Given the description of an element on the screen output the (x, y) to click on. 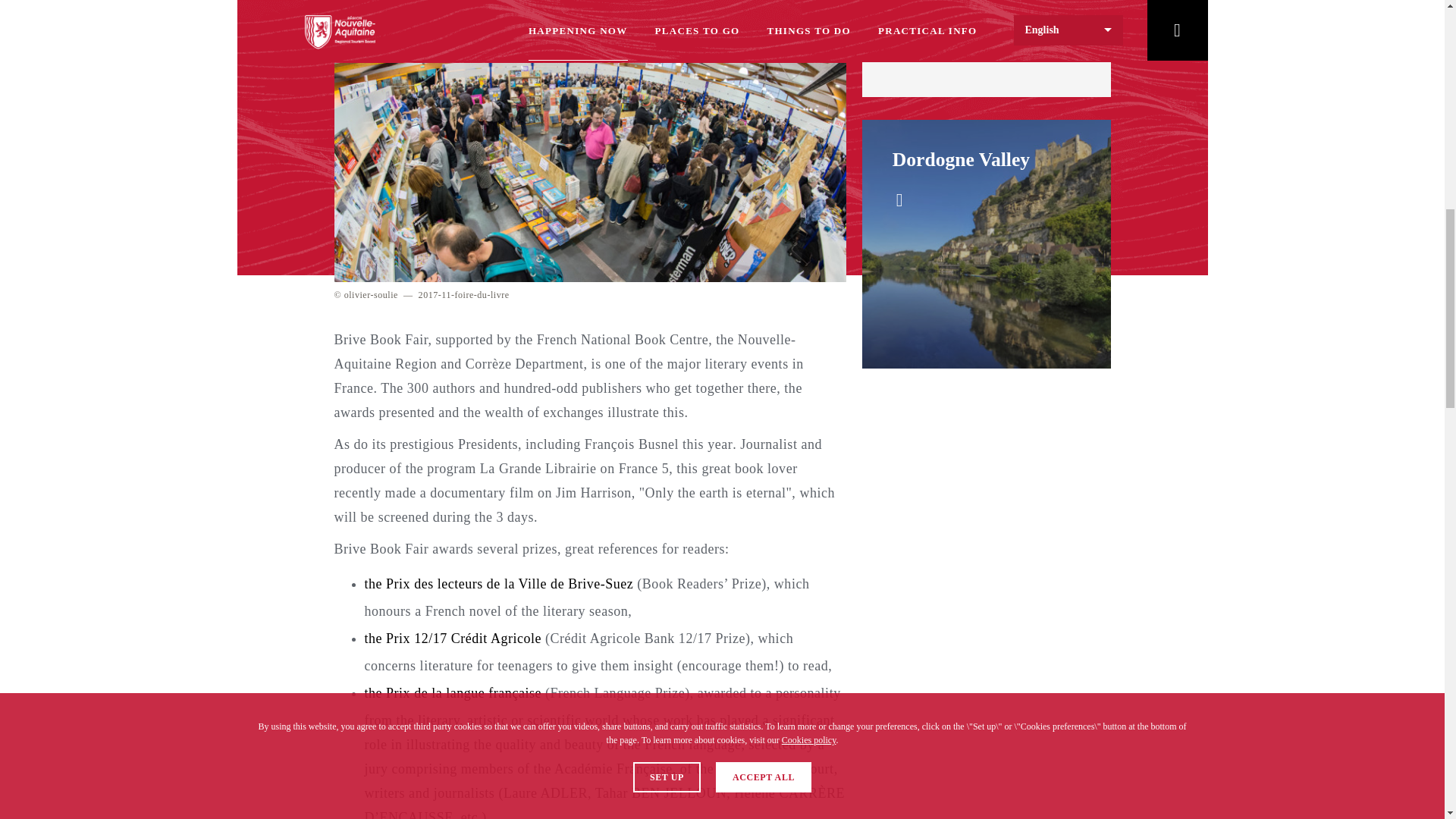
Dordogne Valley (960, 159)
Dordogne Valley (960, 159)
